Given the description of an element on the screen output the (x, y) to click on. 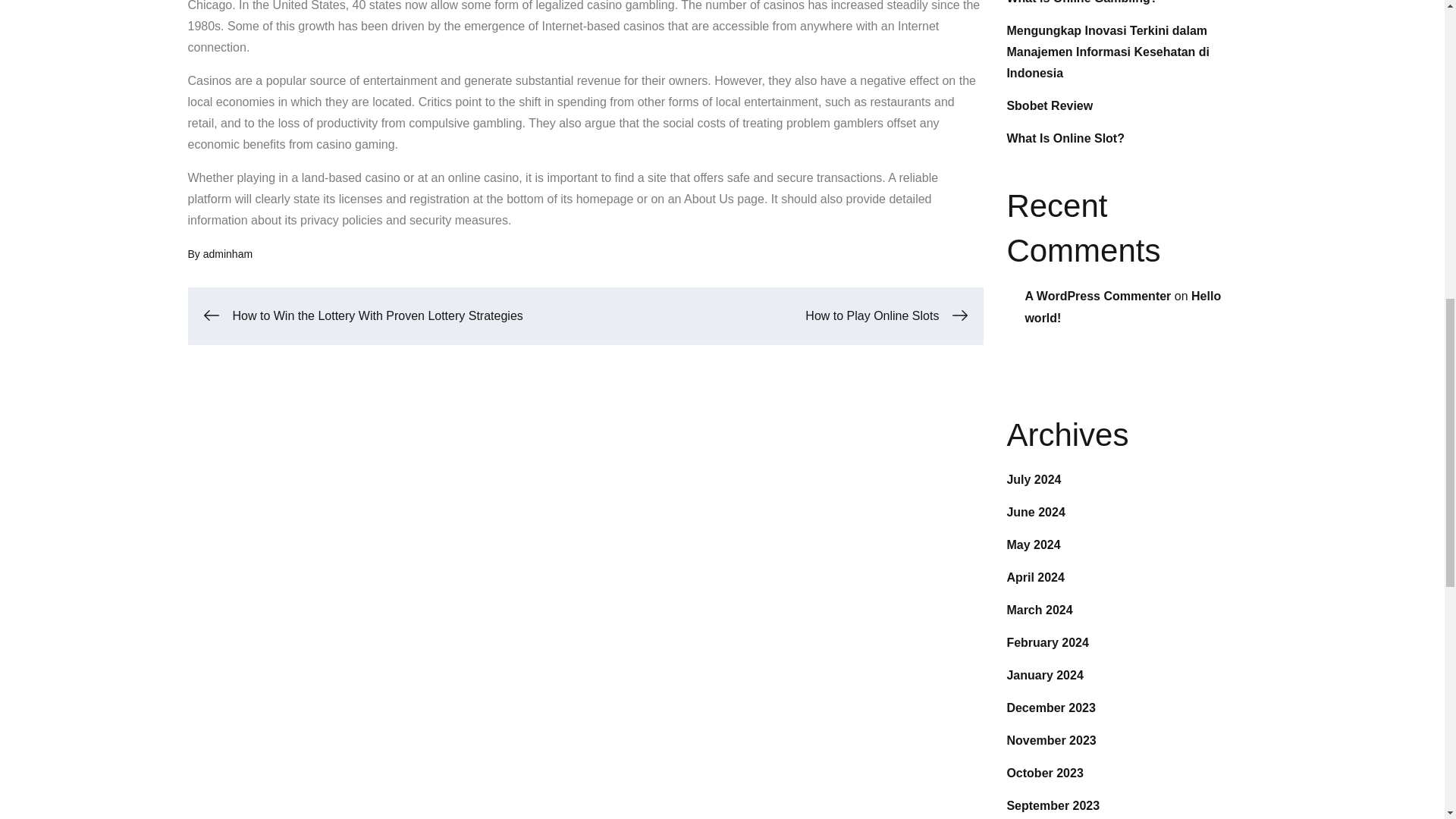
What Is Online Slot? (1065, 137)
What is Online Gambling? (1081, 2)
June 2024 (1035, 512)
April 2024 (1035, 576)
January 2024 (1044, 675)
February 2024 (1047, 642)
Hello world! (1123, 306)
October 2023 (1044, 772)
December 2023 (1050, 707)
September 2023 (1052, 805)
adminham (227, 254)
March 2024 (1038, 609)
July 2024 (1033, 479)
May 2024 (1032, 544)
